Given the description of an element on the screen output the (x, y) to click on. 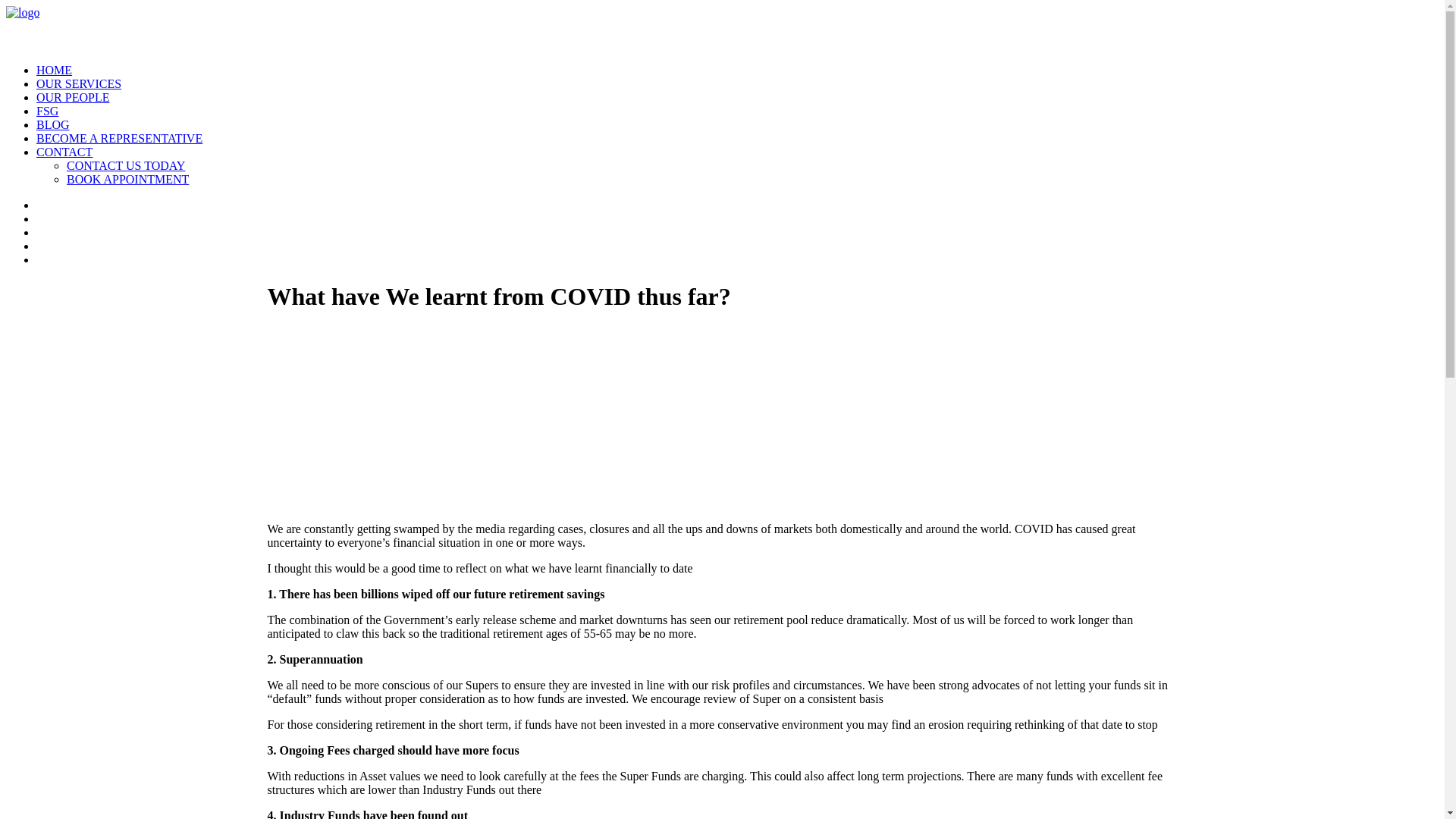
FSG Element type: text (47, 110)
BOOK APPOINTMENT Element type: text (127, 178)
CONTACT US TODAY Element type: text (125, 165)
CONTACT Element type: text (64, 151)
BECOME A REPRESENTATIVE Element type: text (119, 137)
HOME Element type: text (54, 69)
OUR SERVICES Element type: text (78, 83)
OUR PEOPLE Element type: text (72, 97)
BLOG Element type: text (52, 124)
